Given the description of an element on the screen output the (x, y) to click on. 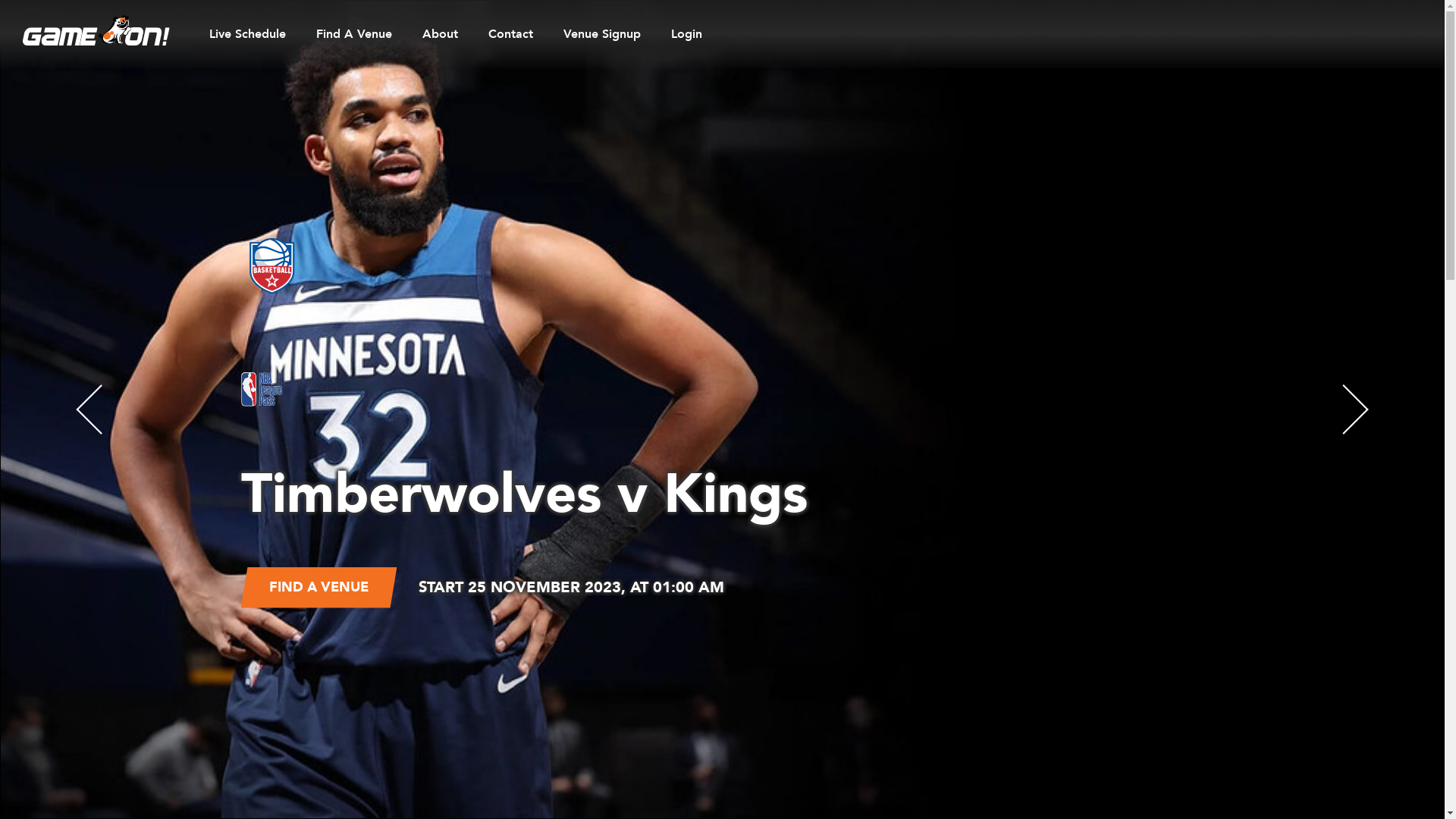
Find A Venue Element type: text (354, 33)
Live Schedule Element type: text (247, 33)
Prev Element type: hover (88, 409)
Venue Signup Element type: text (601, 33)
Game On Home page Element type: hover (95, 30)
Contact Element type: text (510, 33)
Login Element type: text (686, 33)
Next Element type: hover (1355, 409)
About Element type: text (440, 33)
FIND A VENUE Element type: text (319, 587)
